Given the description of an element on the screen output the (x, y) to click on. 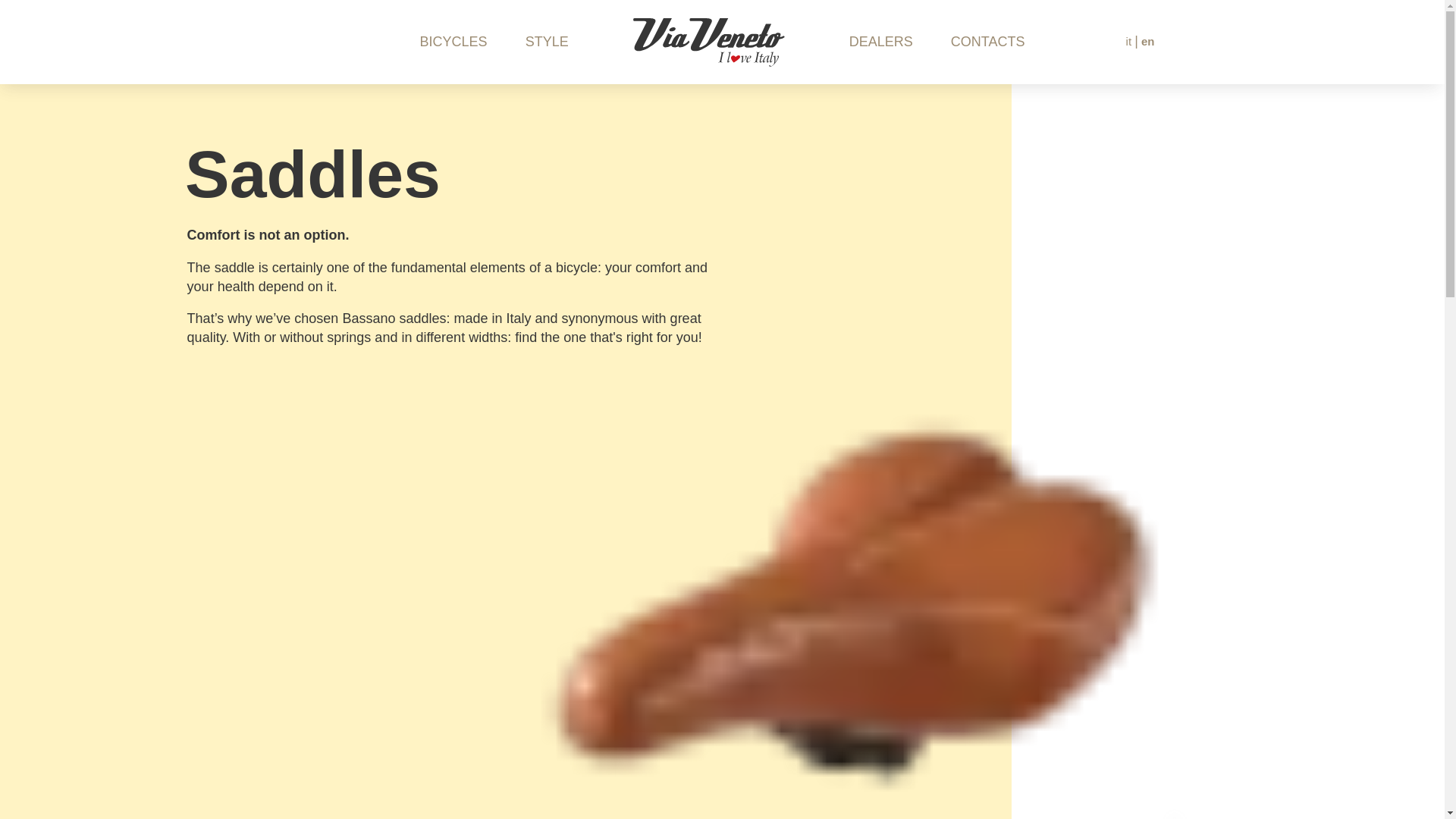
BICYCLES (453, 41)
it (1131, 41)
CONTACTS (987, 41)
DEALERS (880, 41)
STYLE (547, 41)
